Given the description of an element on the screen output the (x, y) to click on. 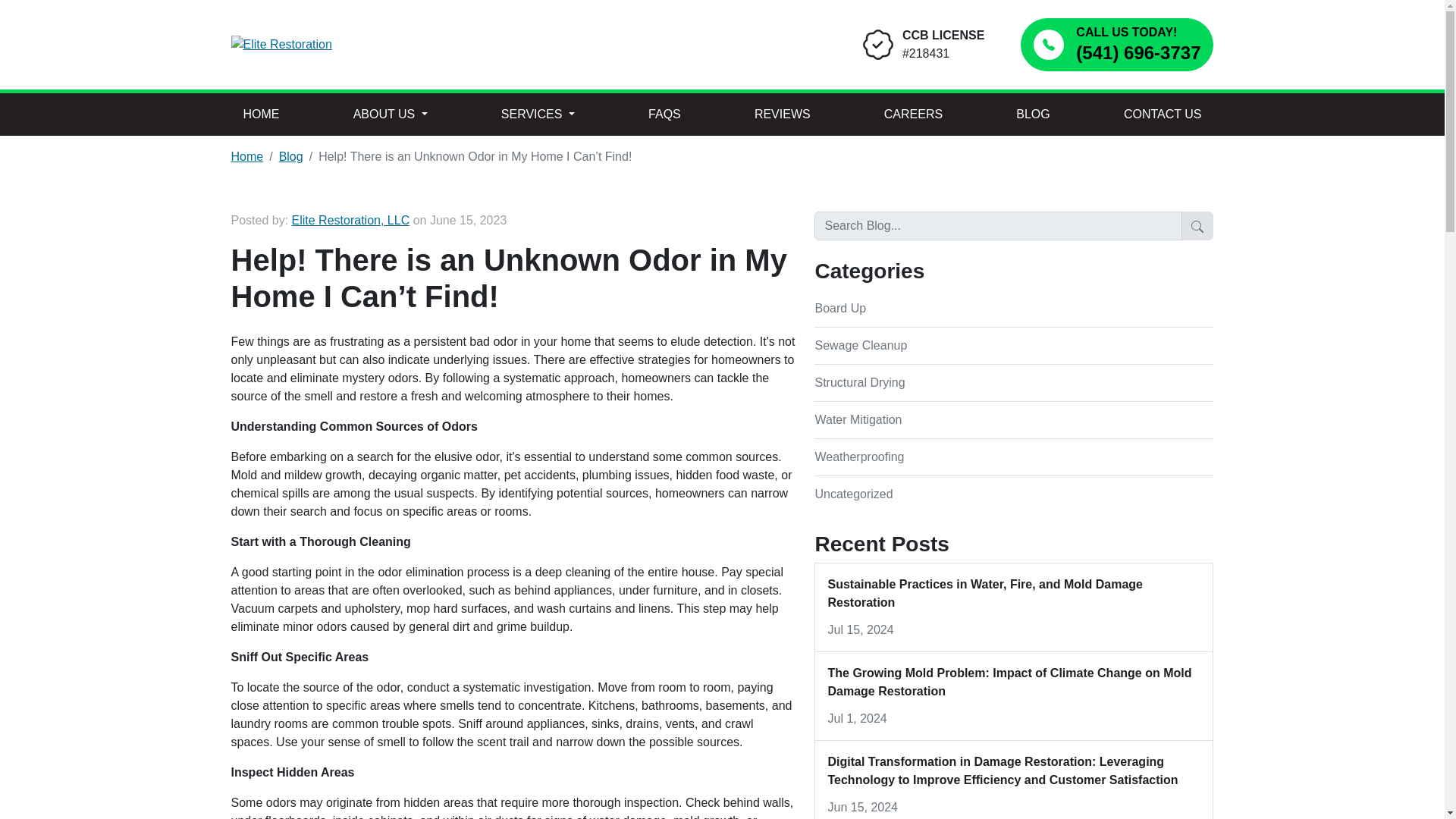
CAREERS (913, 114)
Elite Restoration, LLC (351, 219)
REVIEWS (782, 114)
Blog (290, 155)
Elite Restoration (388, 45)
Elite Restoration (280, 45)
Home (246, 155)
Blog (290, 155)
SERVICES (537, 114)
HOME (260, 114)
Home (246, 155)
Elite Restoration, LLC's Website (351, 219)
